Given the description of an element on the screen output the (x, y) to click on. 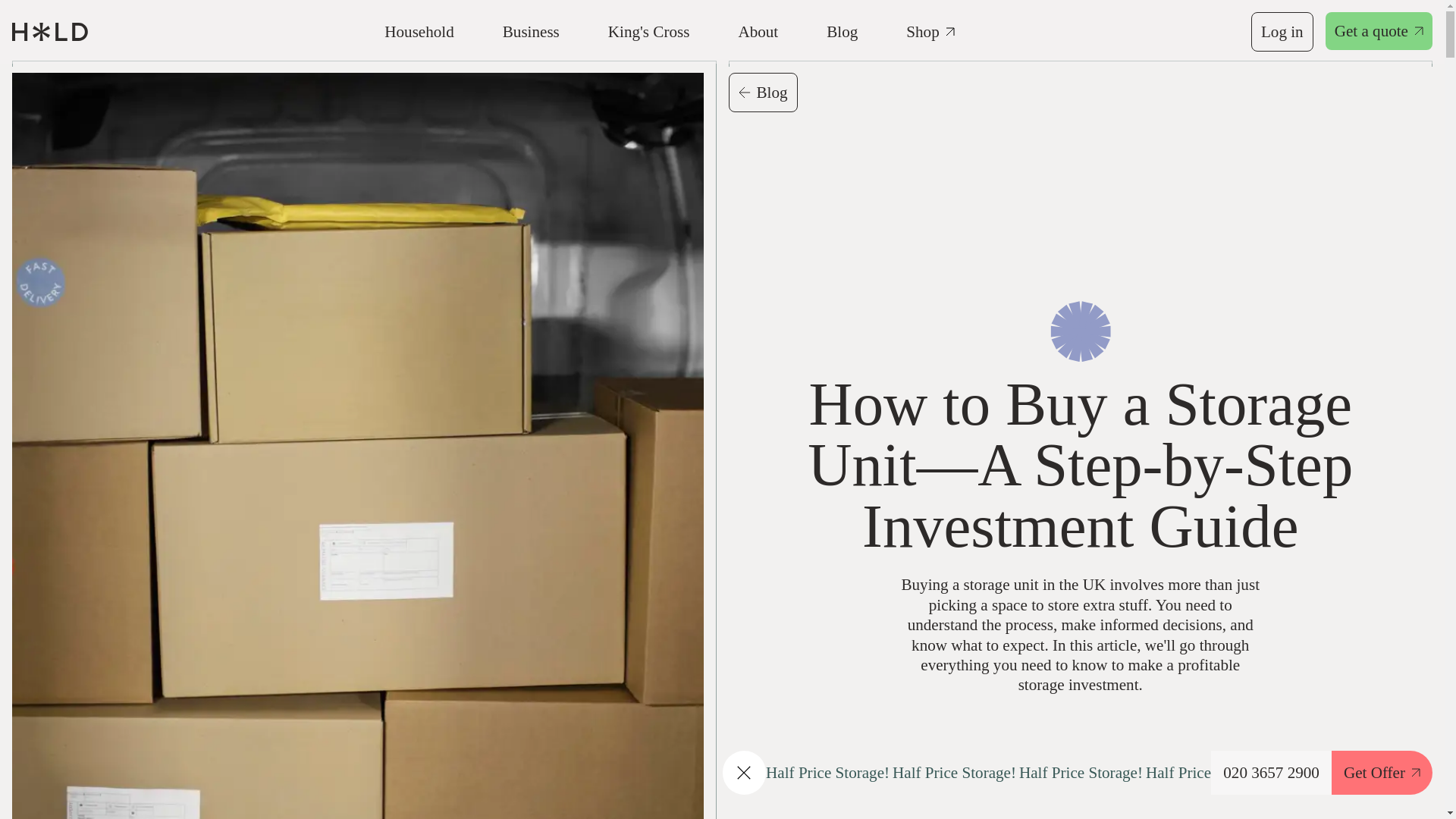
Business (530, 32)
Get a quote (1378, 31)
Household (418, 32)
About (757, 32)
Log in (1281, 31)
Get Offer (1382, 772)
Get a quote (1378, 30)
Blog (842, 32)
Blog (762, 92)
King's Cross (649, 32)
020 3657 2900 (1271, 772)
Shop (929, 31)
